Given the description of an element on the screen output the (x, y) to click on. 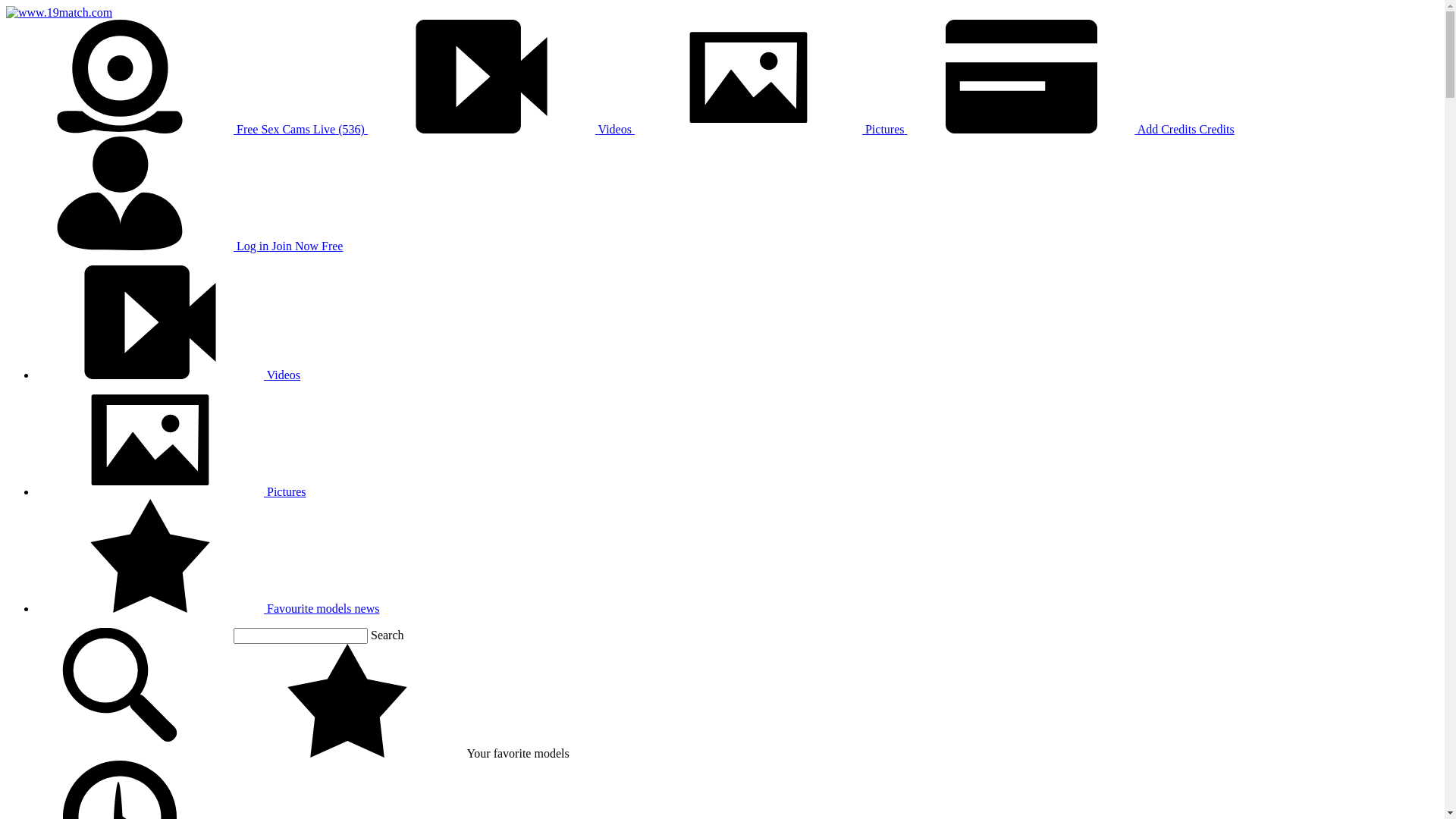
Pictures Element type: text (770, 128)
Pictures Element type: text (171, 491)
Free Sex Cams Live (536) Element type: text (186, 128)
Join Now Free Element type: text (306, 245)
Log in Element type: text (138, 245)
Videos Element type: text (500, 128)
Favourite models news Element type: text (207, 608)
Search models Element type: hover (119, 685)
Videos Element type: text (168, 374)
Add Credits Credits Element type: text (1069, 128)
